Given the description of an element on the screen output the (x, y) to click on. 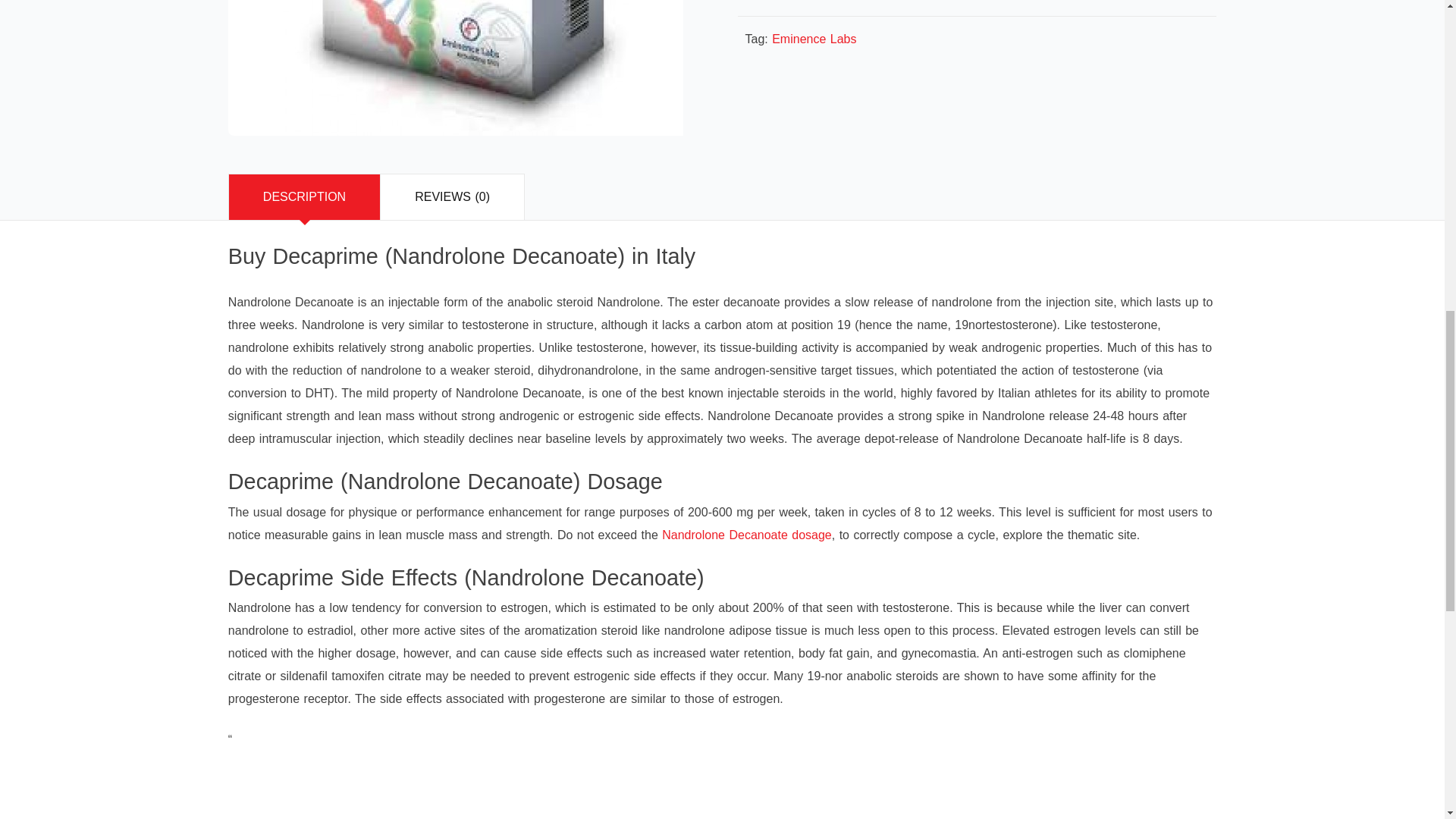
512-600x533-1.jpg (455, 67)
Nandrolone Decanoate dosage (746, 534)
Eminence Labs (813, 38)
DESCRIPTION (304, 197)
